Given the description of an element on the screen output the (x, y) to click on. 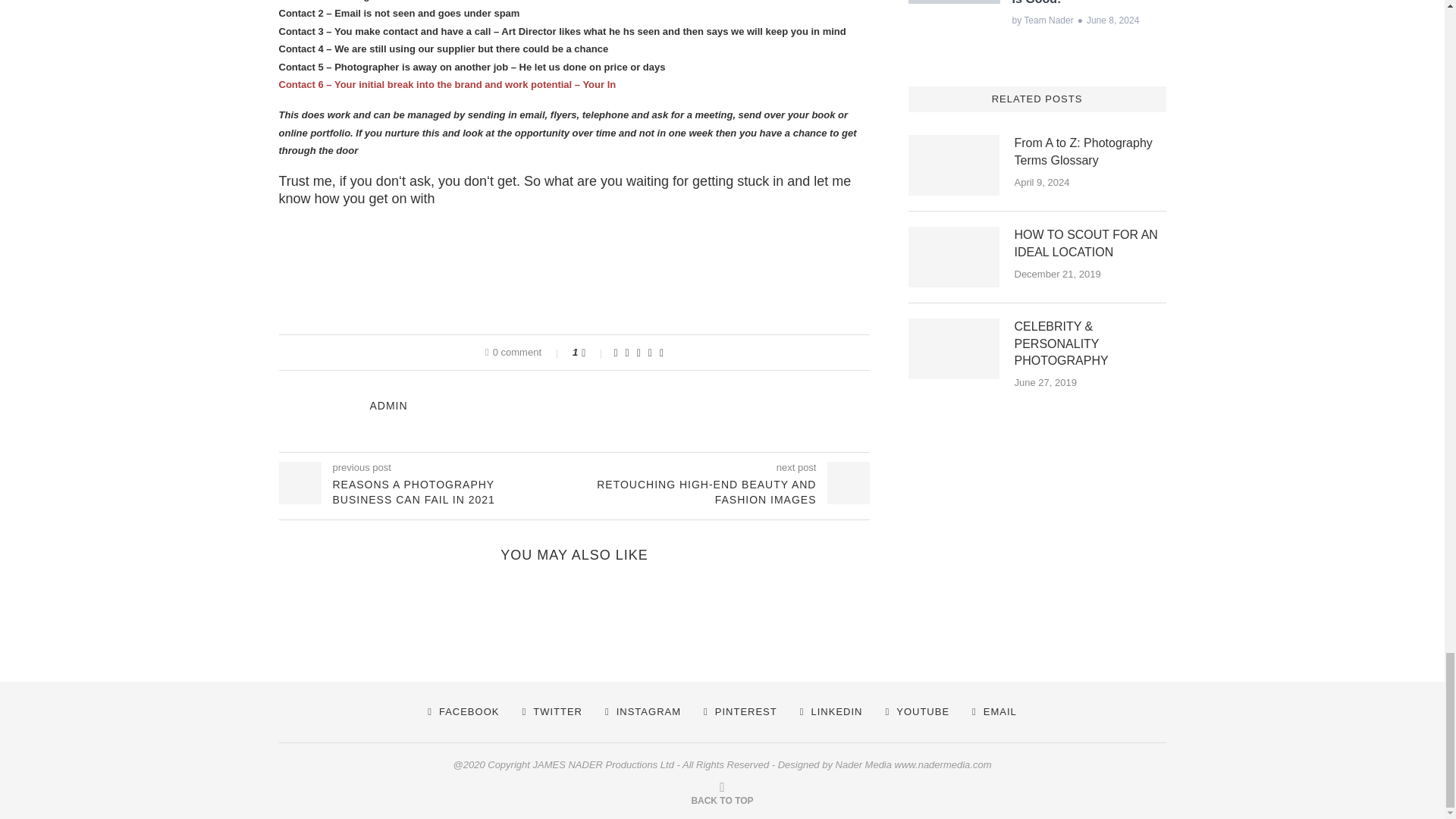
Like (592, 352)
HOW TO SCOUT FOR AN IDEAL LOCATION (953, 256)
From A to Z: Photography Terms Glossary (953, 165)
From A to Z: Photography Terms Glossary (1090, 151)
Posts by admin (388, 405)
